Given the description of an element on the screen output the (x, y) to click on. 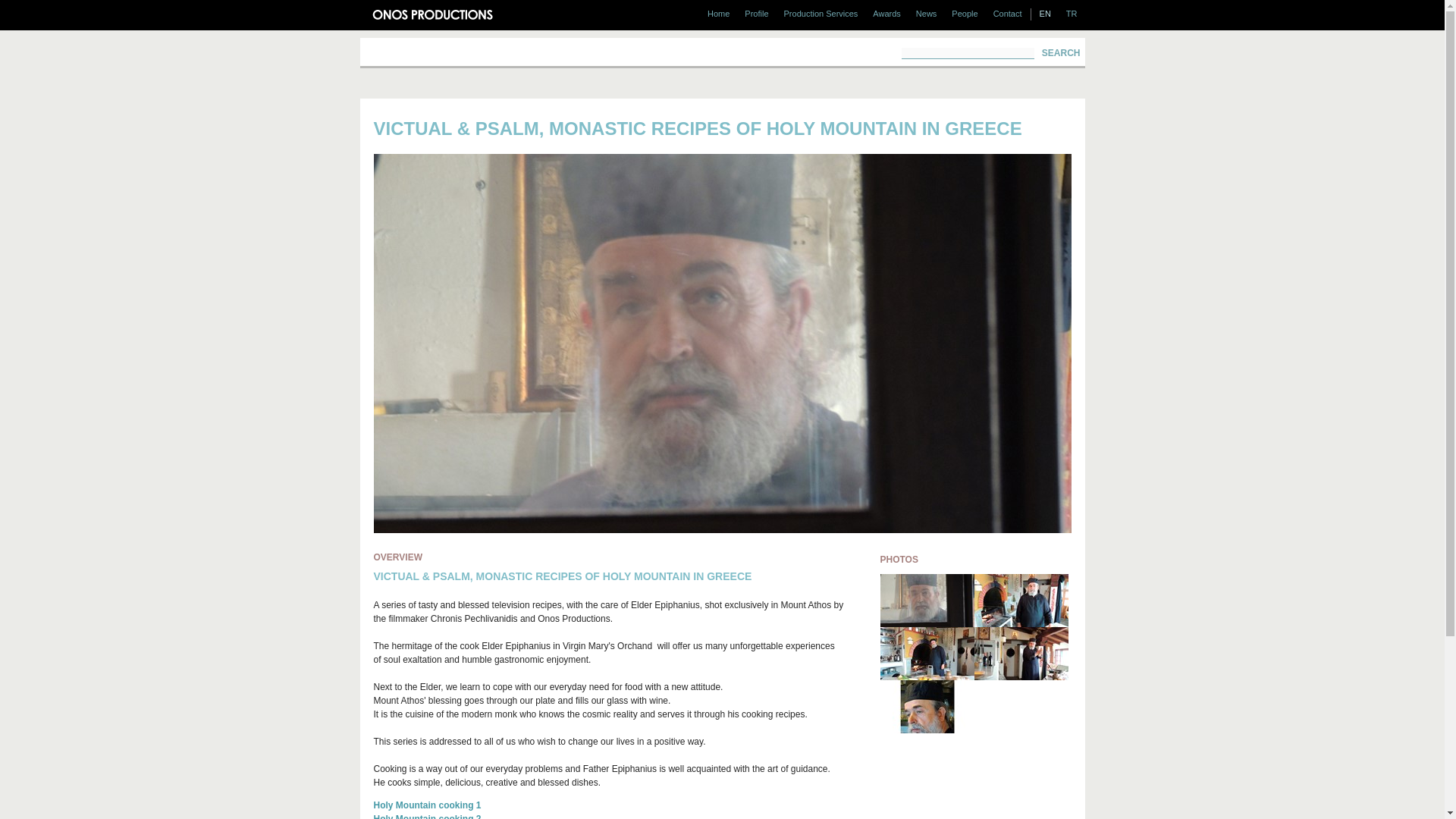
Holy Mountain cooking 2 (426, 816)
Onos Production (425, 15)
SEARCH (1060, 52)
EN (1045, 13)
Awards (885, 13)
Turkish (1071, 13)
SEARCH (1060, 52)
English (1045, 13)
TR (1071, 13)
Profile (756, 13)
